Given the description of an element on the screen output the (x, y) to click on. 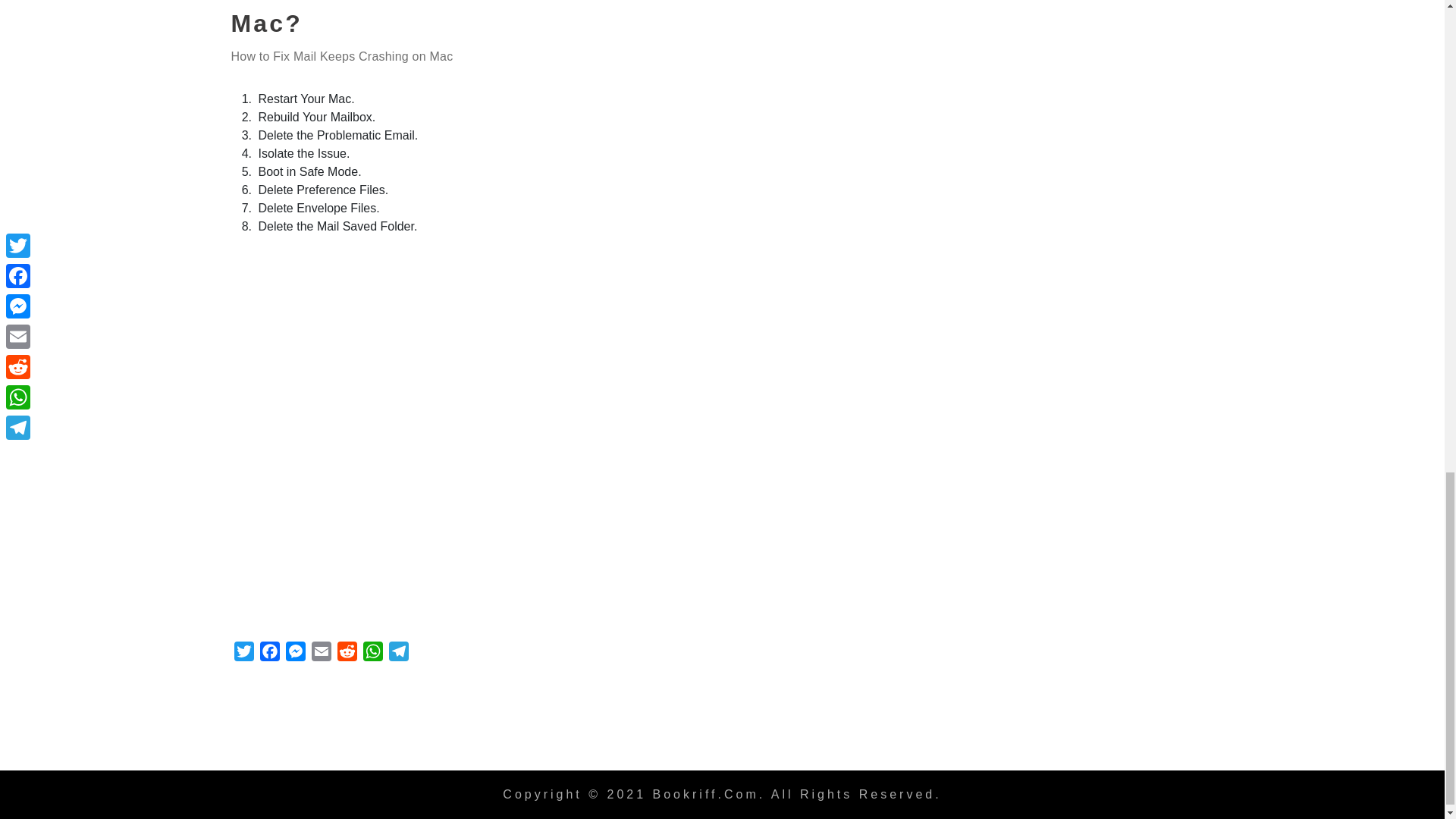
Telegram (397, 654)
WhatsApp (372, 654)
Email (320, 654)
Twitter (243, 654)
Twitter (243, 654)
Reddit (346, 654)
Facebook (269, 654)
Facebook (269, 654)
Email (320, 654)
